Given the description of an element on the screen output the (x, y) to click on. 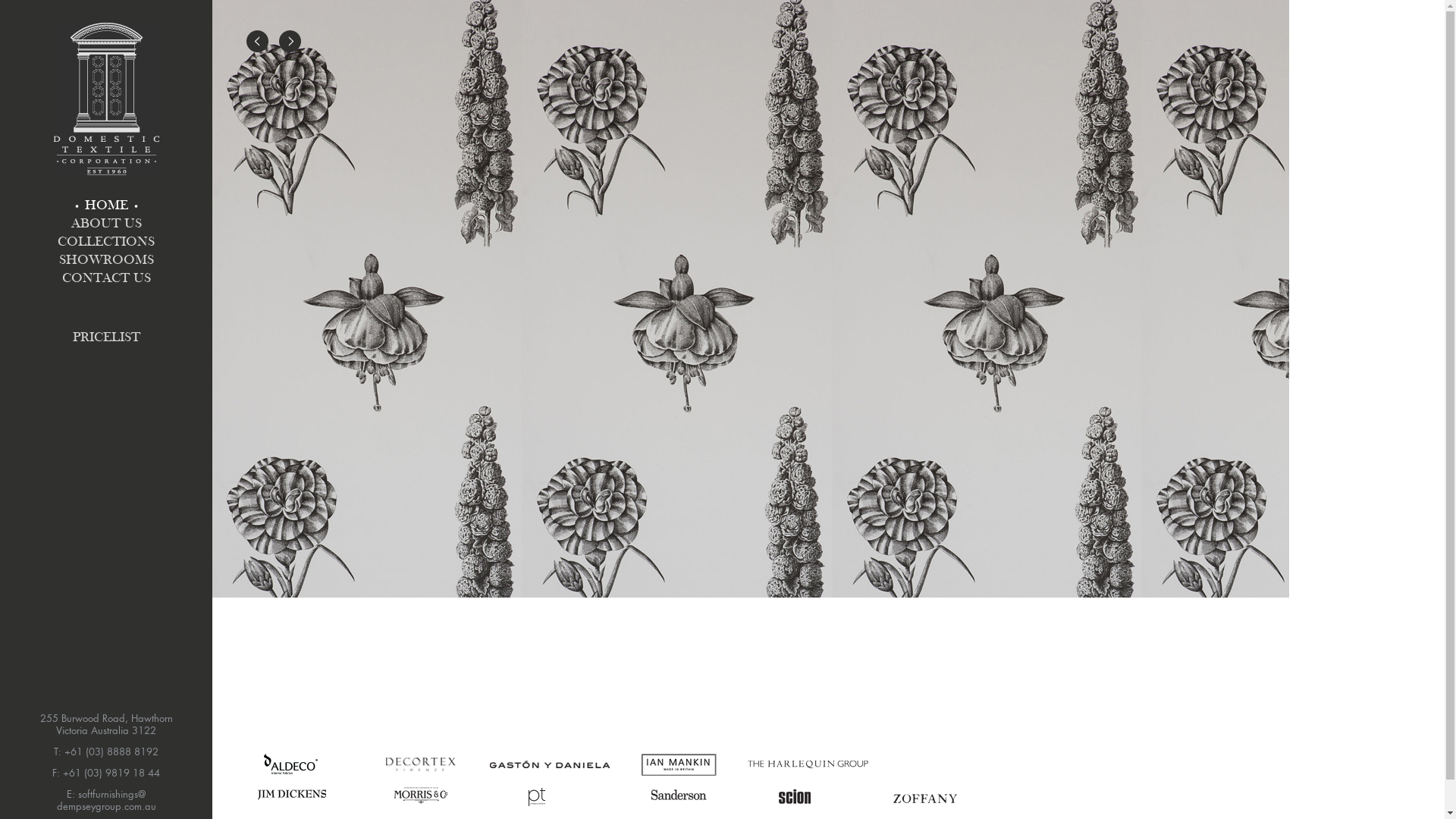
 HOME  Element type: text (105, 205)
 SHOWROOMS  Element type: text (105, 260)
 CONTACT US  Element type: text (105, 278)
 ABOUT US  Element type: text (105, 223)
softfurnishings@
dempseygroup.com.au Element type: text (105, 799)
 COLLECTIONS  Element type: text (105, 242)
 PRICELIST  Element type: text (105, 337)
